Given the description of an element on the screen output the (x, y) to click on. 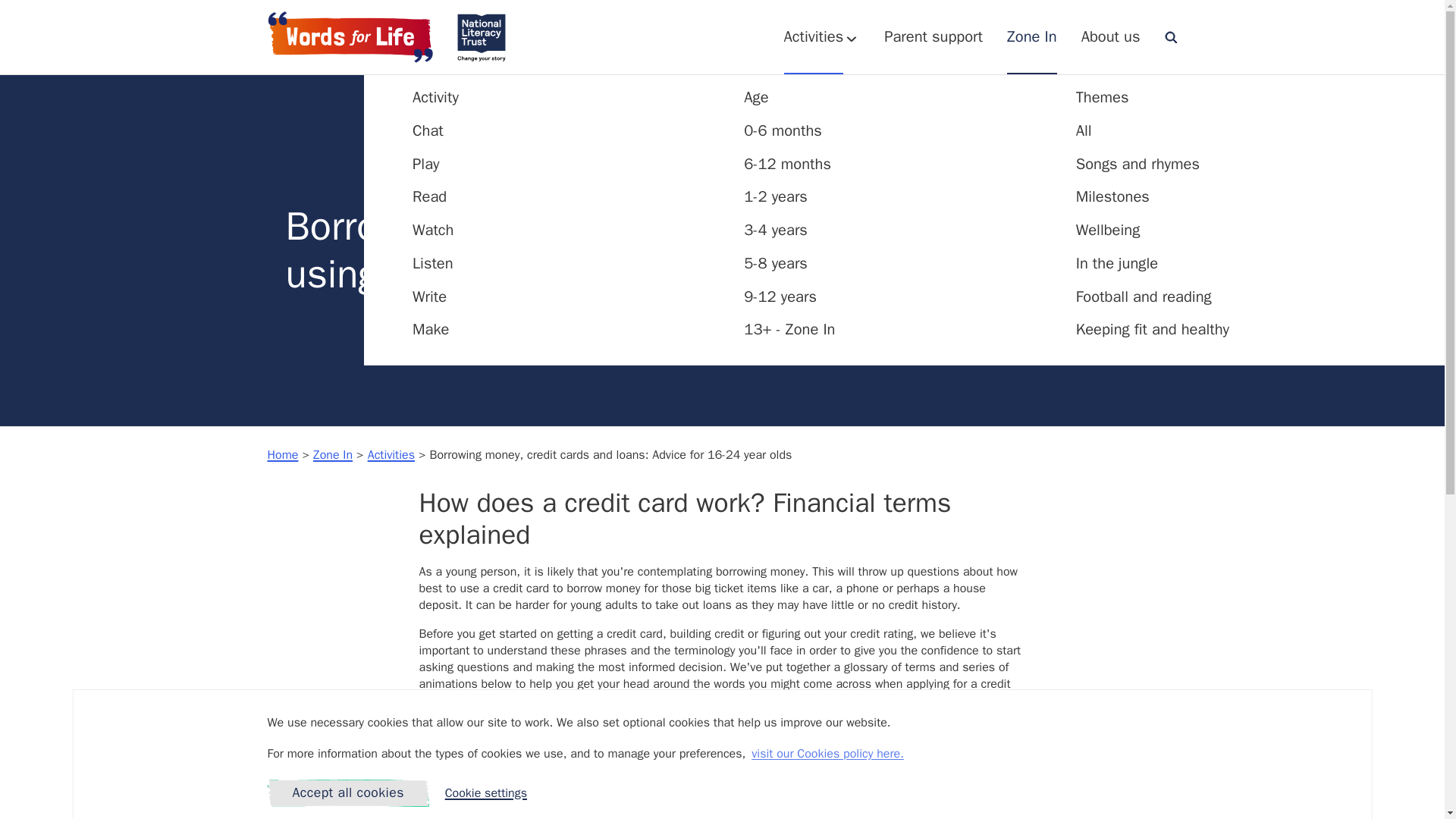
About us (1110, 36)
Zone In (430, 329)
Cookie settings (1032, 36)
visit our Cookies policy here. (432, 262)
